Given the description of an element on the screen output the (x, y) to click on. 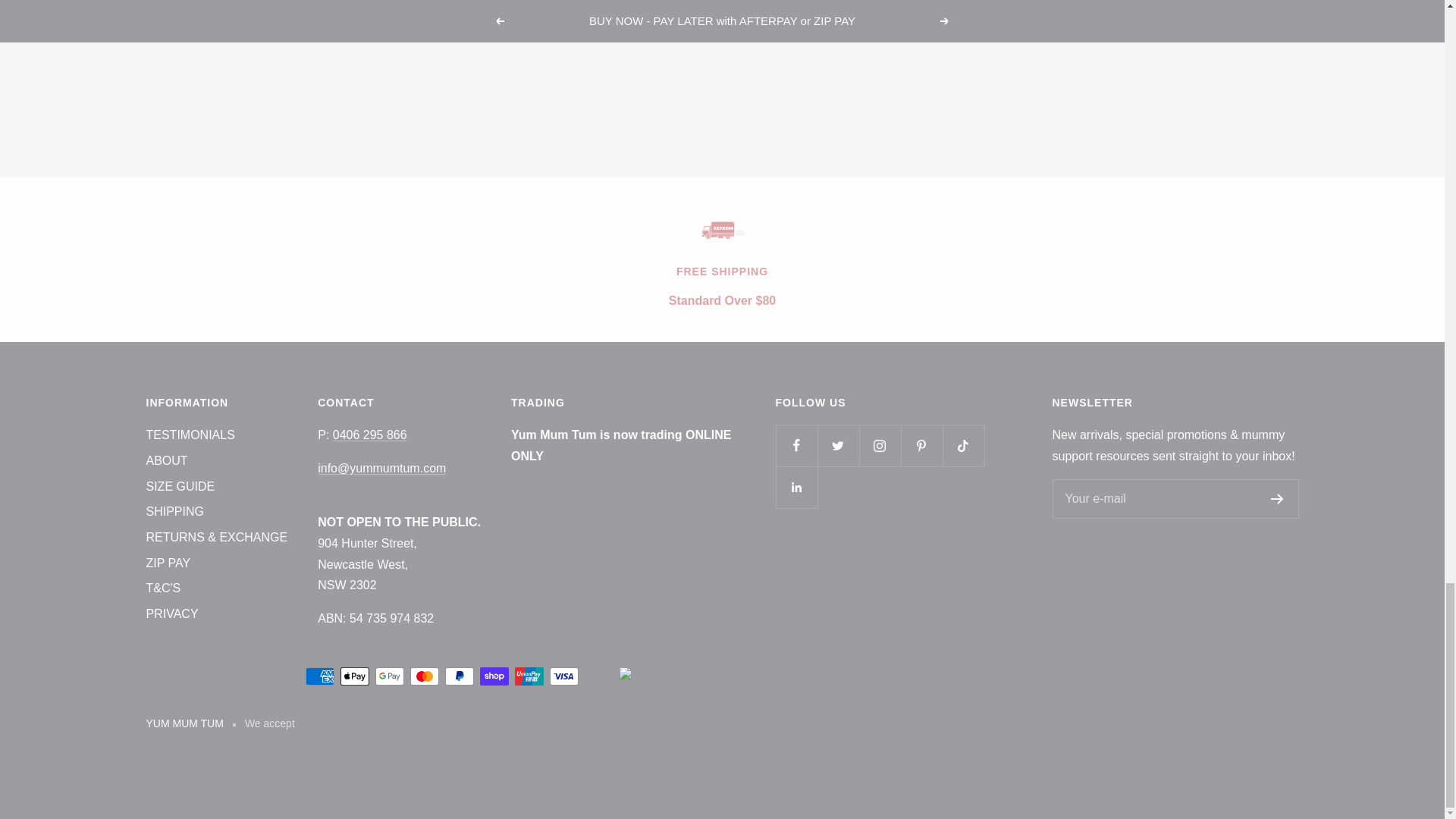
Register (1277, 498)
tel:0406 295 866 (370, 434)
